Given the description of an element on the screen output the (x, y) to click on. 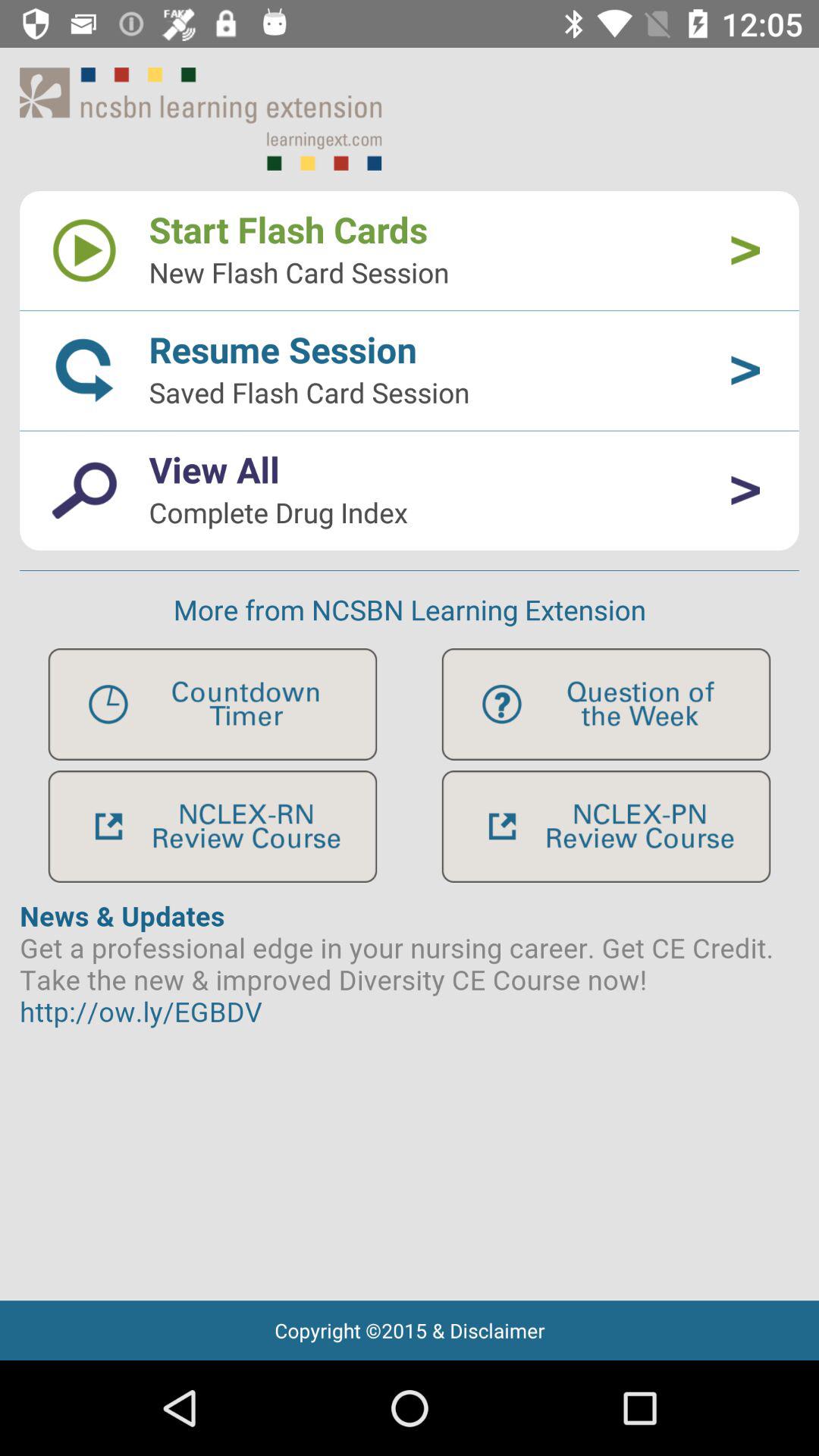
review option (606, 826)
